Given the description of an element on the screen output the (x, y) to click on. 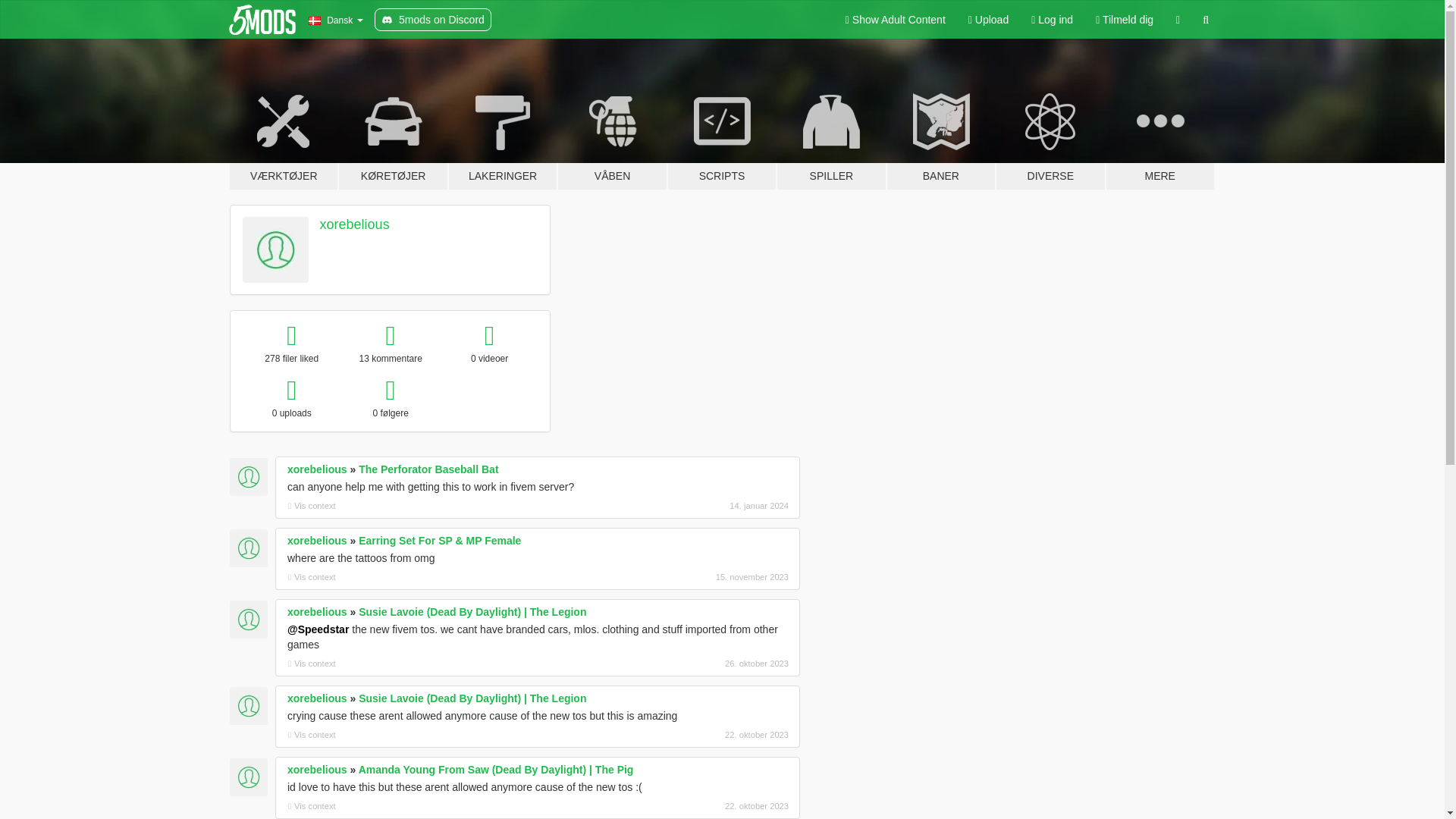
Upload (988, 19)
26. oktober 2023, 18.56 (708, 663)
22. oktober 2023, 18.38 (708, 735)
Log ind (1052, 19)
15. november 2023, 17.44 (708, 576)
Show Adult Content (895, 19)
14. januar 2024, 13.55 (708, 505)
5mods on Discord (433, 19)
  Dansk (335, 19)
Tilmeld dig (1124, 19)
